Given the description of an element on the screen output the (x, y) to click on. 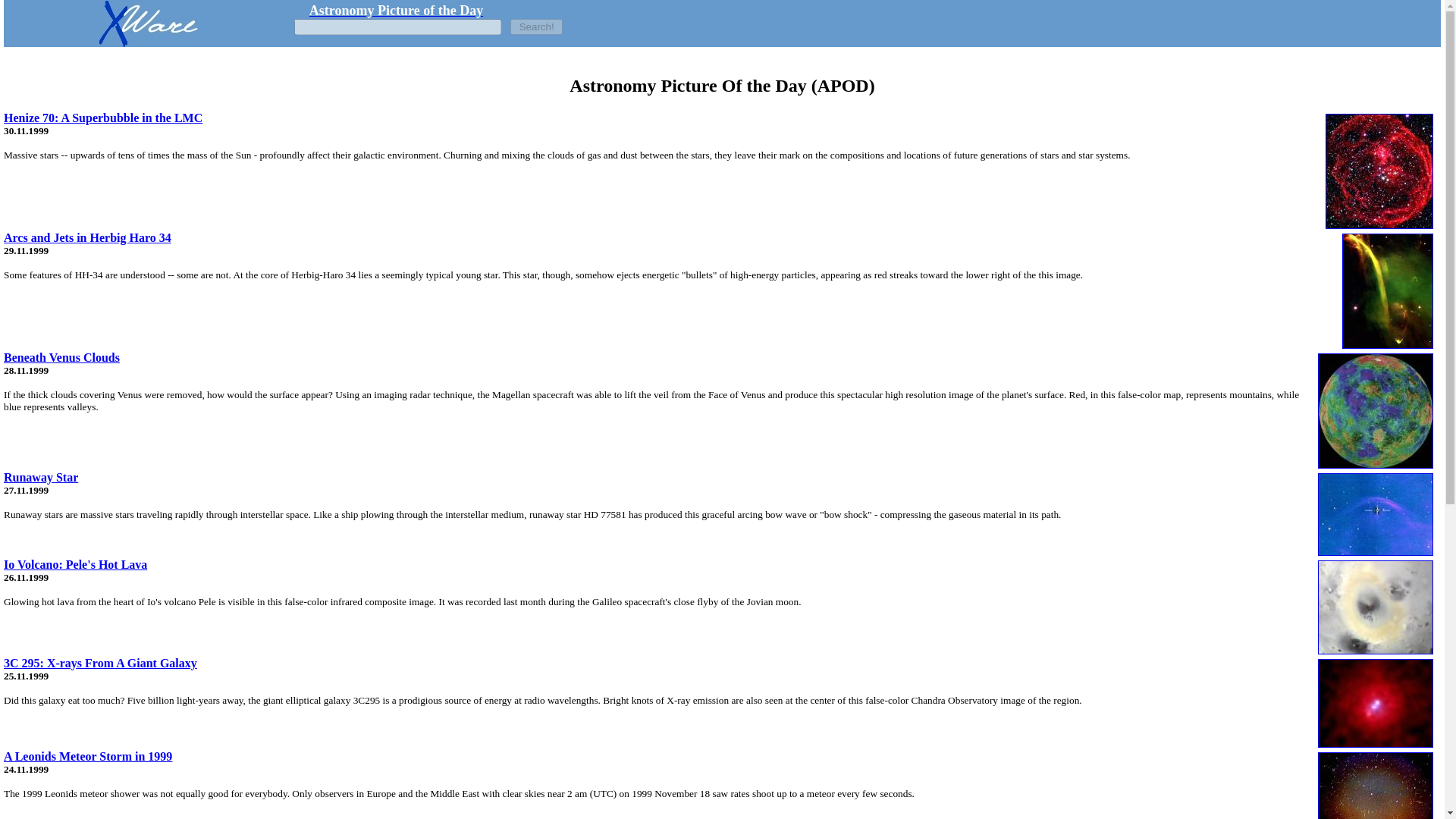
Arcs and Jets in Herbig Haro 34 (87, 237)
Beneath Venus Clouds (61, 357)
Runaway Star (41, 477)
Astronomy Picture of the Day (395, 10)
3C 295: X-rays From A Giant Galaxy (100, 662)
Henize 70: A Superbubble in the LMC (103, 117)
A Leonids Meteor Storm in 1999 (87, 756)
Io Volcano: Pele's Hot Lava (75, 563)
